Given the description of an element on the screen output the (x, y) to click on. 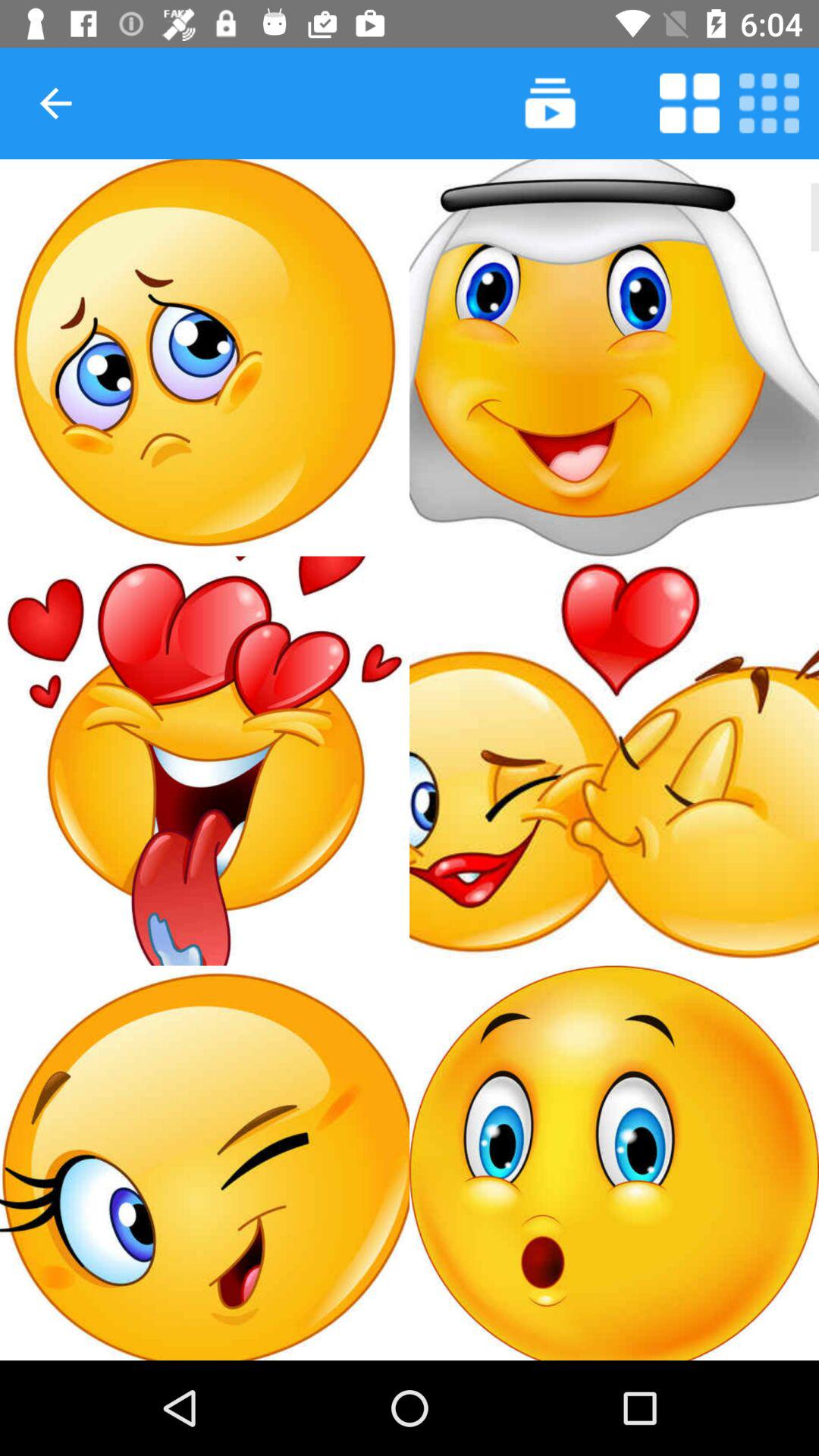
click to add sticker to message (204, 1162)
